Given the description of an element on the screen output the (x, y) to click on. 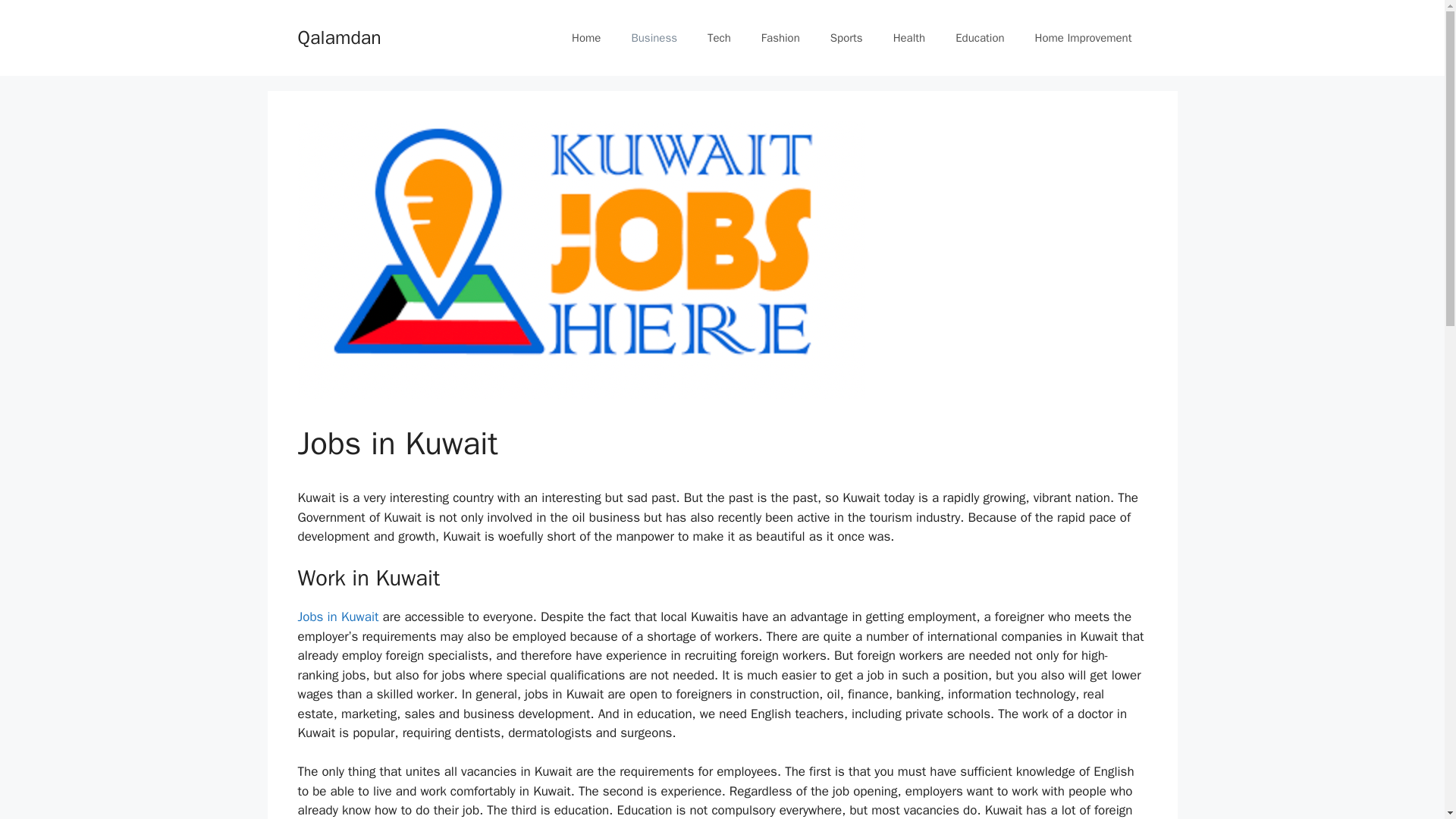
Fashion (780, 37)
Business (654, 37)
Home Improvement (1083, 37)
Qalamdan (338, 37)
Jobs in Kuwait (337, 616)
Home (585, 37)
Sports (846, 37)
Education (979, 37)
Health (908, 37)
Tech (719, 37)
